Given the description of an element on the screen output the (x, y) to click on. 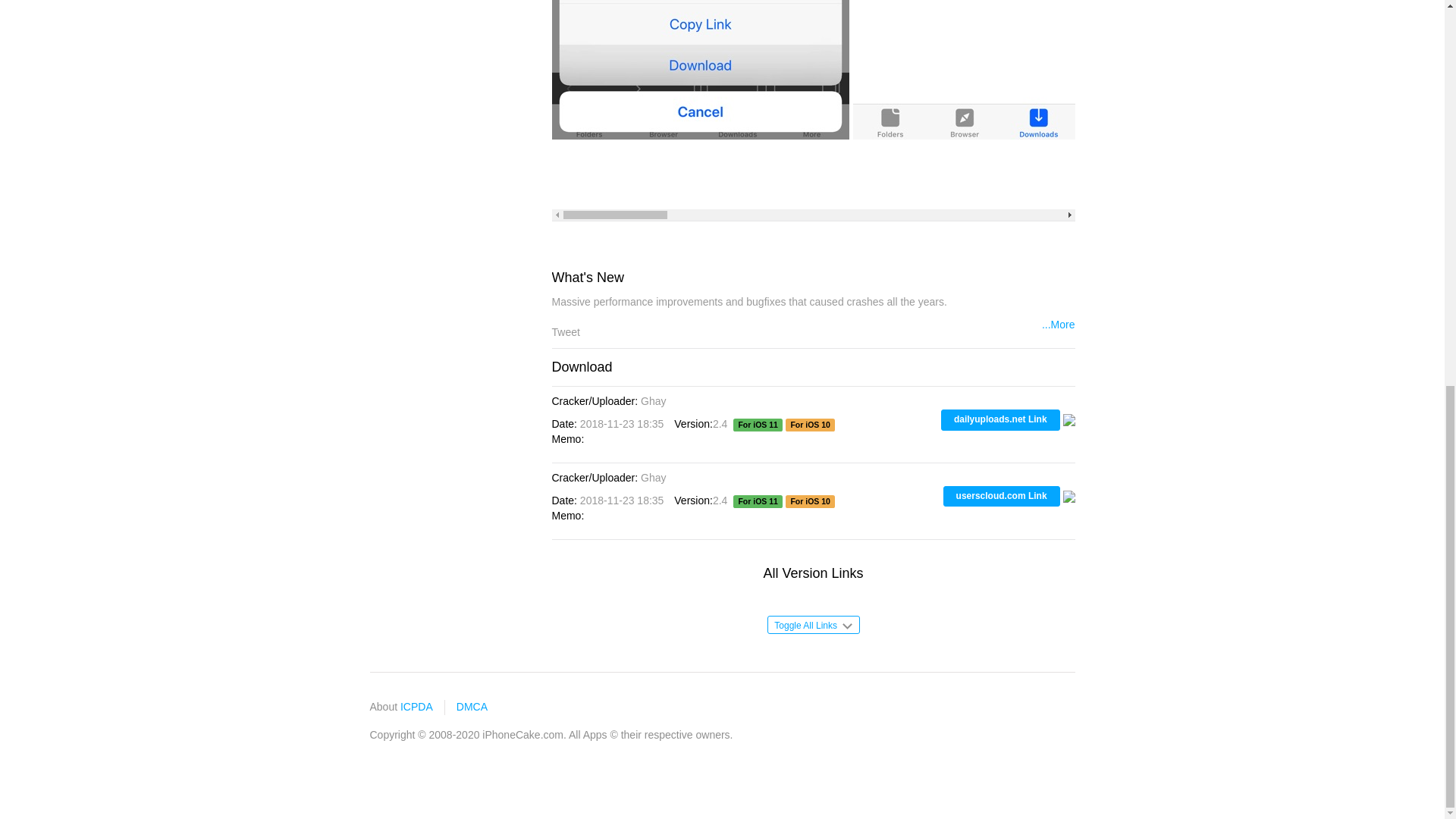
Download From This Filehost (999, 419)
Browser and Documents Plus Screenshots (699, 69)
ICPDA (416, 707)
dailyuploads.net Link (999, 419)
Toggle All Links   (813, 624)
Browser and Documents Plus Screenshots (1000, 69)
Tweet (565, 331)
Report Dead Link (1068, 418)
Report Dead Link (1068, 494)
...More (1058, 324)
DMCA (472, 707)
Download From This Filehost (1001, 496)
userscloud.com Link (1001, 496)
